Given the description of an element on the screen output the (x, y) to click on. 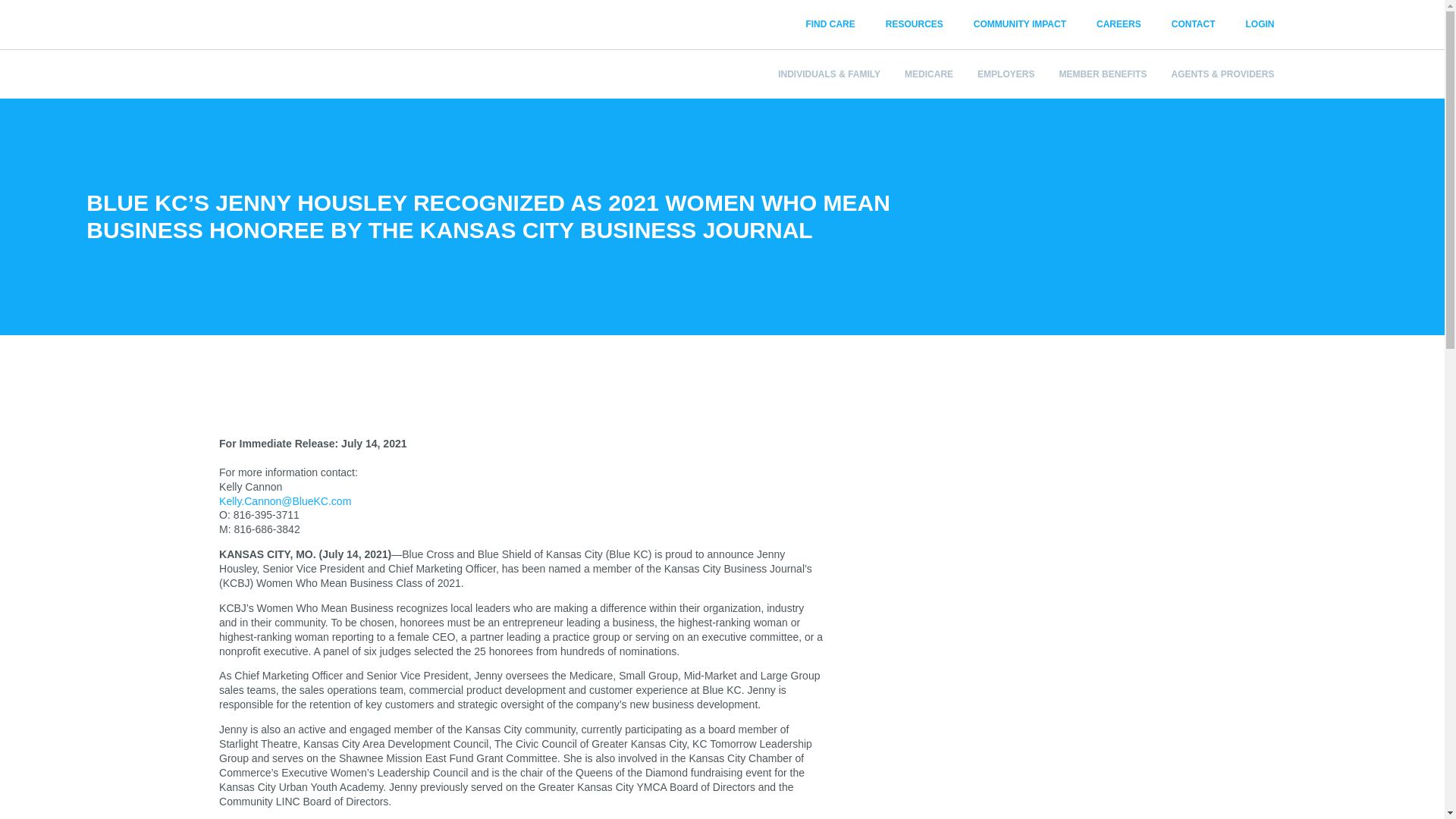
RESOURCES (914, 23)
Blue KC (258, 29)
CAREERS (1118, 23)
FIND CARE (829, 23)
COMMUNITY IMPACT (1019, 23)
LOGIN (1252, 23)
MEDICARE (922, 74)
EMPLOYERS (999, 74)
MEMBER BENEFITS (1096, 74)
CONTACT (1193, 23)
